Given the description of an element on the screen output the (x, y) to click on. 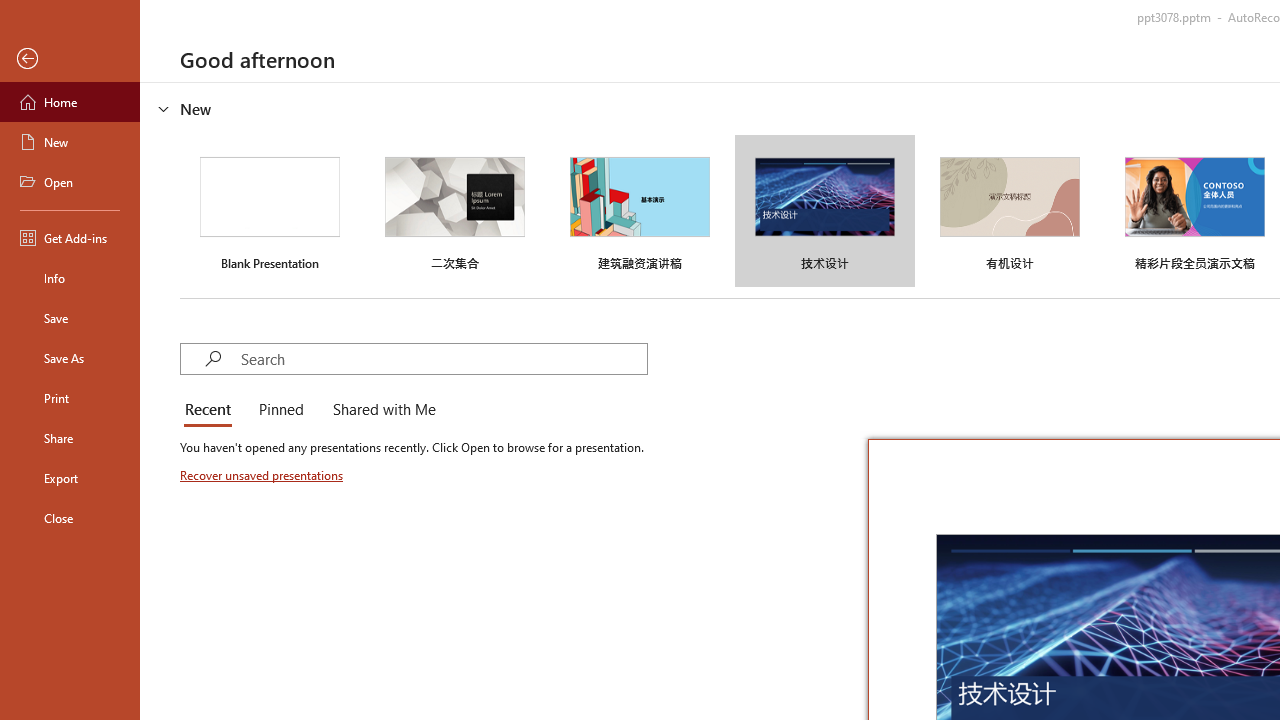
Blank Presentation (269, 211)
Save As (69, 357)
Recover unsaved presentations (263, 475)
Hide or show region (164, 108)
New (69, 141)
Export (69, 477)
Recent (212, 410)
Info (69, 277)
